Given the description of an element on the screen output the (x, y) to click on. 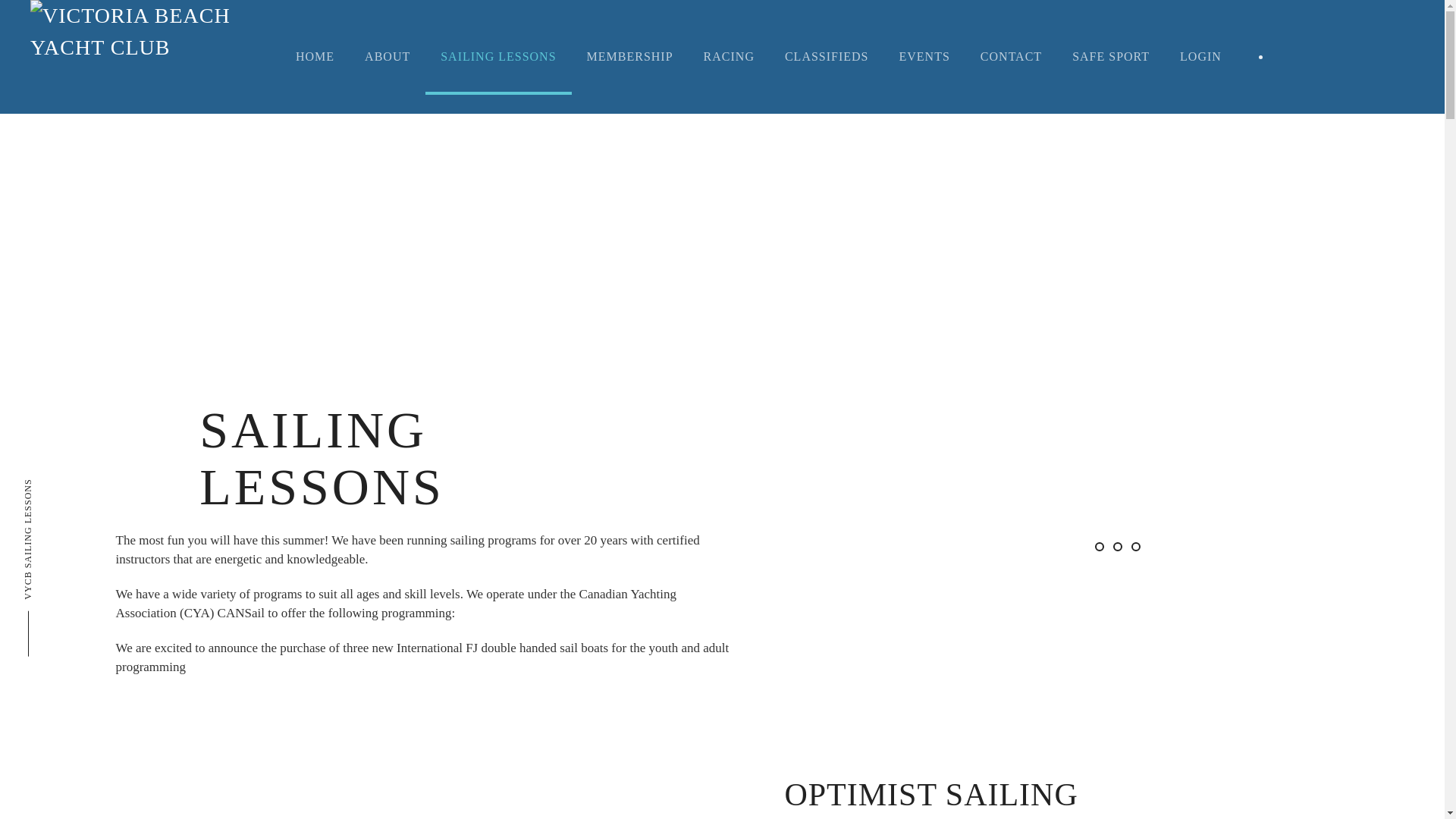
MEMBERSHIP (630, 56)
LOGIN (1200, 56)
EVENTS (924, 56)
CONTACT (1011, 56)
SAILING LESSONS (497, 56)
HOME (315, 56)
RACING (729, 56)
CLASSIFIEDS (826, 56)
SAFE SPORT (1110, 56)
ABOUT (387, 56)
